Given the description of an element on the screen output the (x, y) to click on. 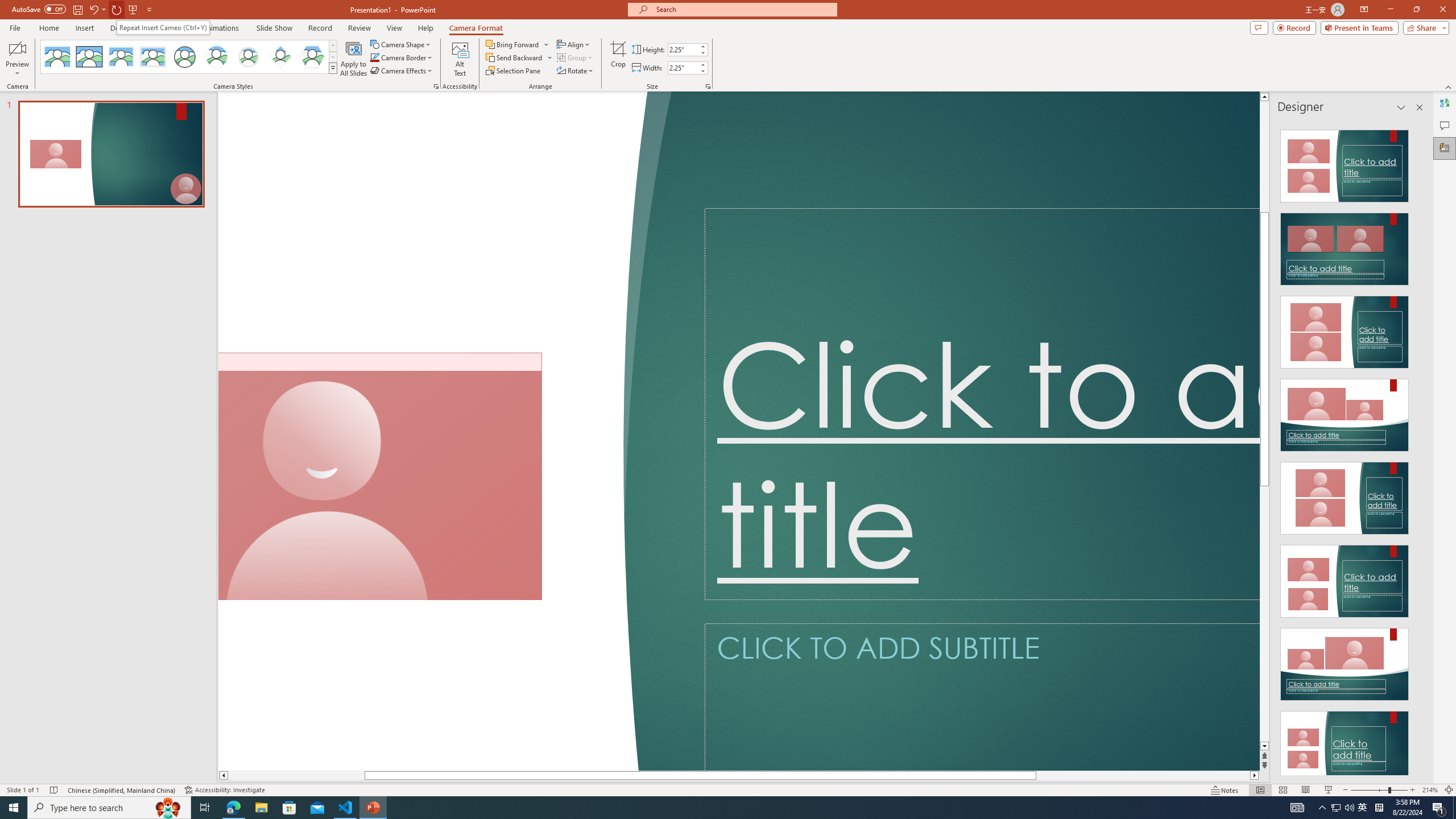
No Style (57, 56)
Recommended Design: Design Idea (1344, 162)
Less (702, 70)
Page down (1264, 614)
Help (425, 28)
Translator (1444, 102)
Camera Effects (402, 69)
Cameo Width (682, 67)
More (702, 64)
Title TextBox (981, 404)
Apply to All Slides (353, 58)
Class: NetUIImage (332, 68)
Send Backward (518, 56)
